Given the description of an element on the screen output the (x, y) to click on. 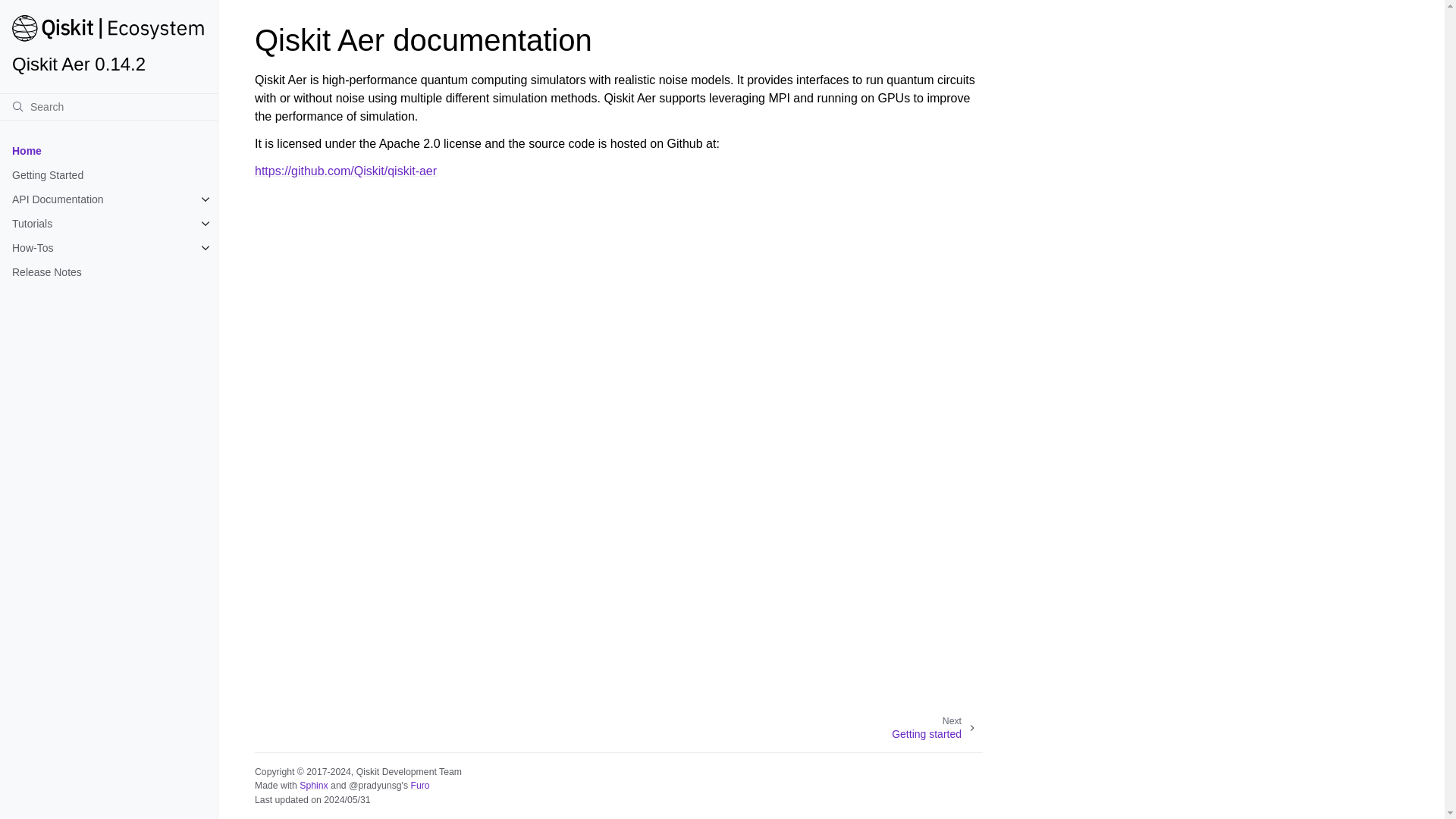
Getting Started (108, 174)
API Documentation (108, 199)
Home (108, 150)
